Given the description of an element on the screen output the (x, y) to click on. 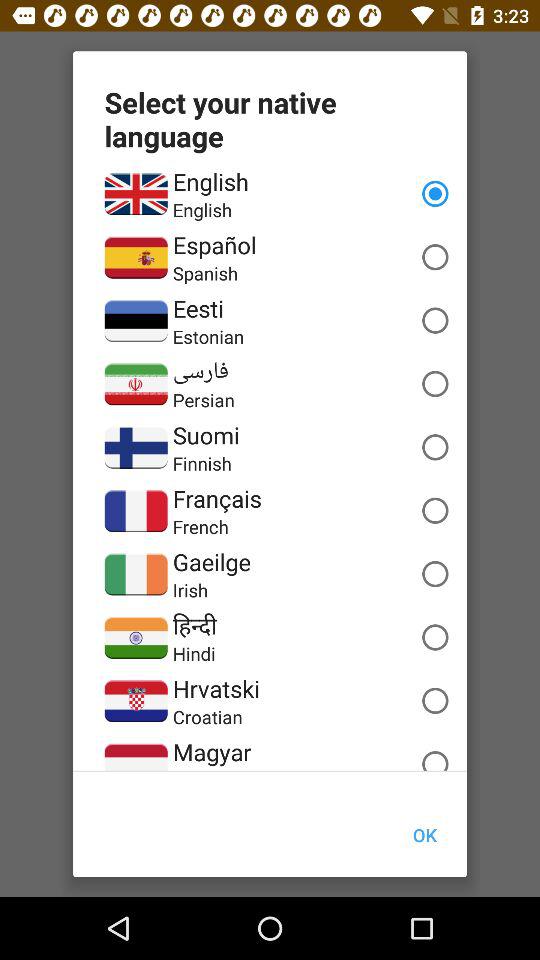
launch app above the estonian (197, 308)
